Given the description of an element on the screen output the (x, y) to click on. 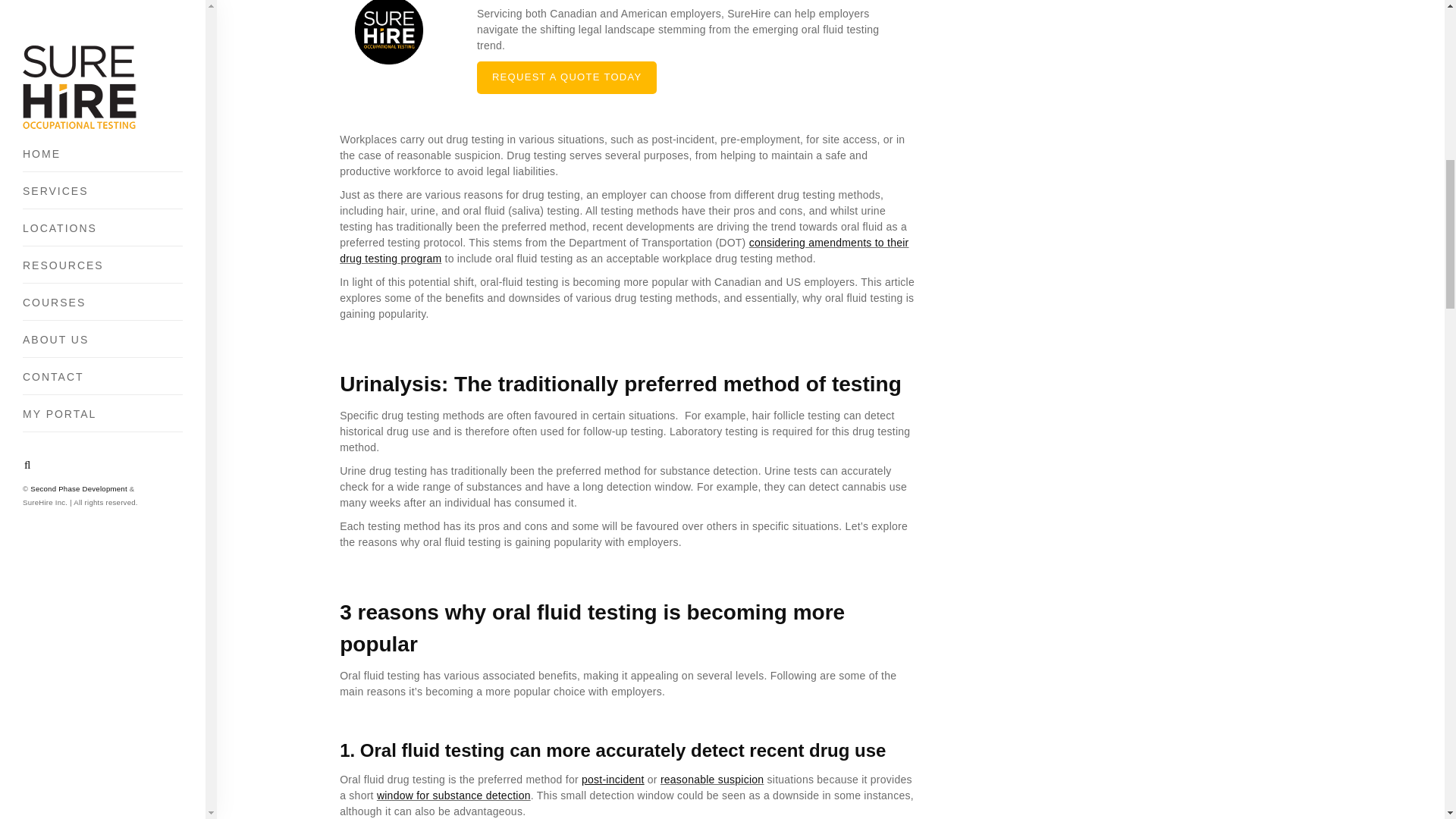
considering amendments to their drug testing program (623, 250)
window for substance detection (454, 795)
reasonable suspicion (712, 779)
post-incident (612, 779)
REQUEST A QUOTE TODAY (567, 77)
